Given the description of an element on the screen output the (x, y) to click on. 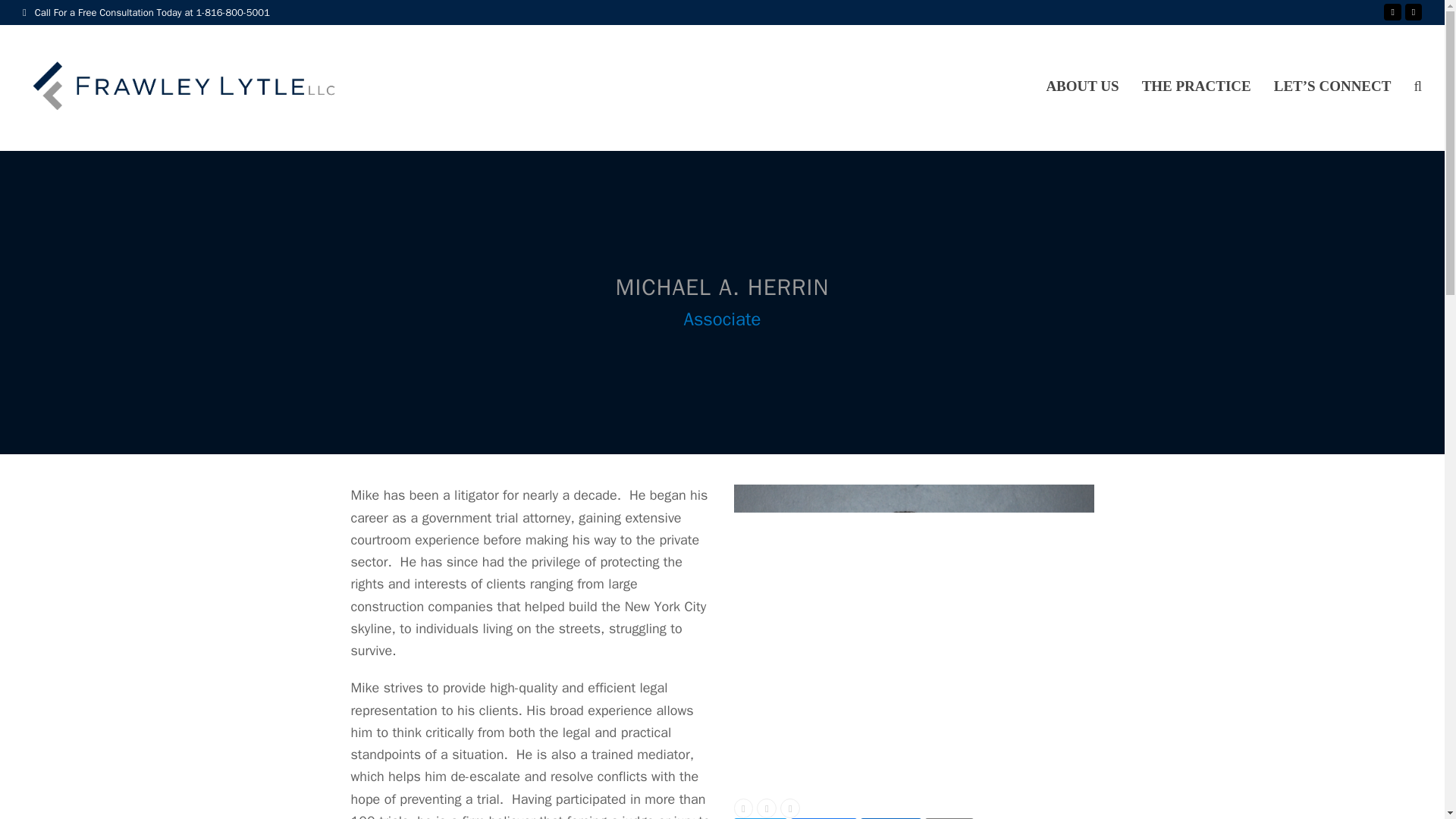
Website (789, 808)
Email (949, 818)
Phone (1413, 12)
Linkedin (743, 808)
ABOUT US (1081, 87)
Phone Number (766, 808)
LinkedIn (1392, 12)
LinkedIn (890, 818)
Twitter (760, 818)
THE PRACTICE (1196, 87)
Facebook (823, 818)
Smile2 Edited (913, 635)
